Given the description of an element on the screen output the (x, y) to click on. 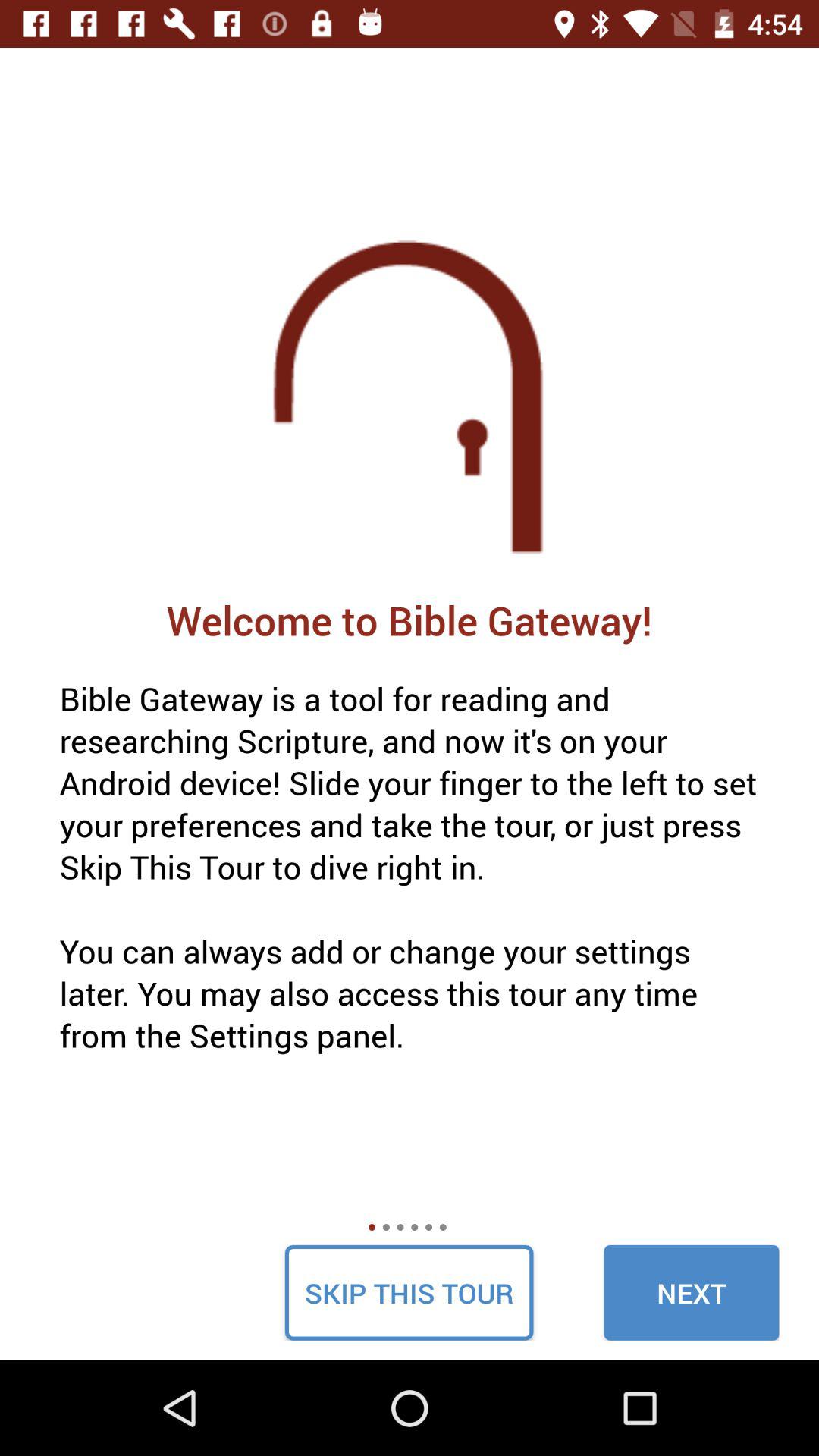
launch the skip this tour icon (408, 1292)
